Given the description of an element on the screen output the (x, y) to click on. 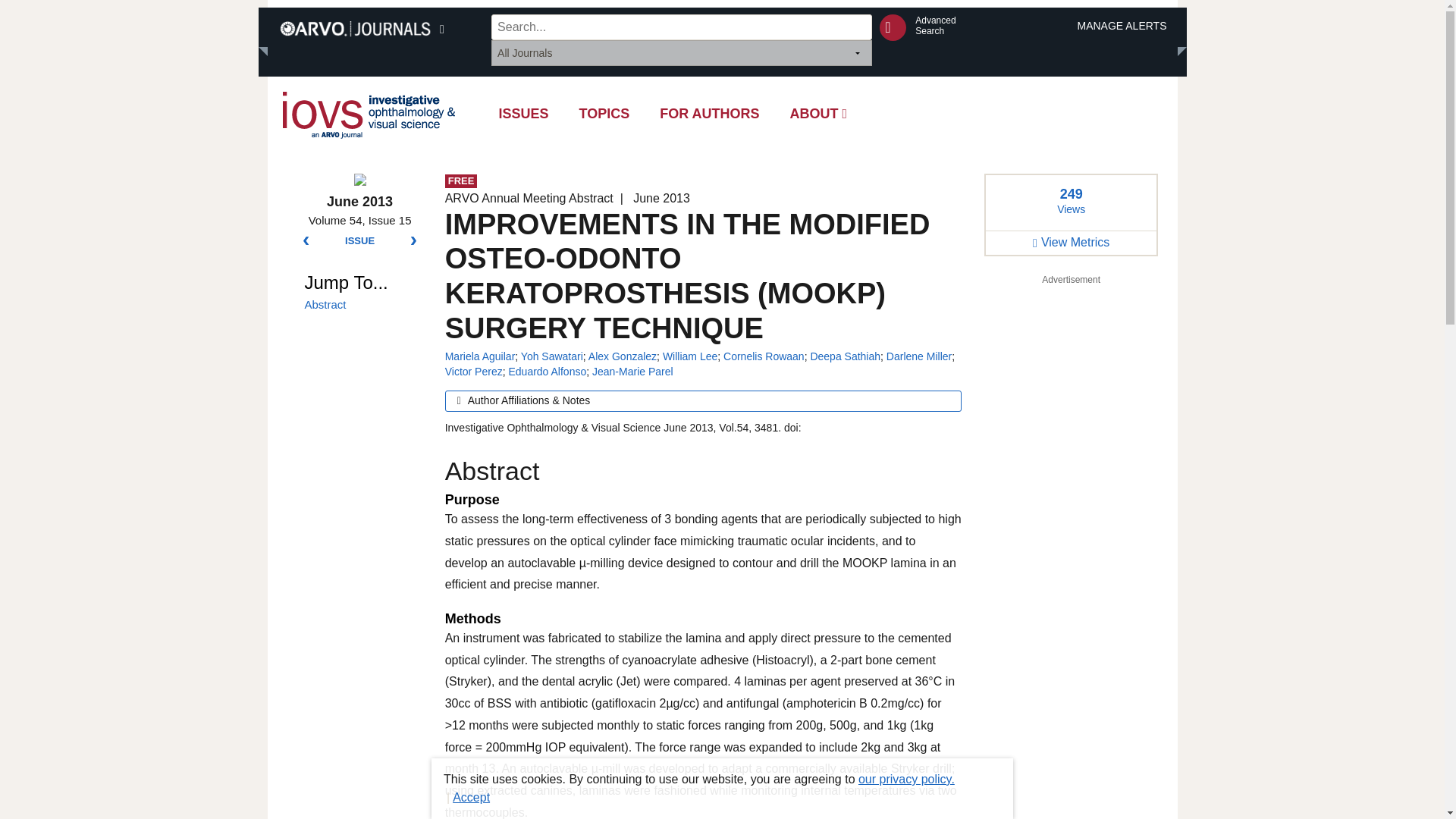
TOPICS (604, 114)
Victor Perez (473, 371)
ISSUES (523, 114)
Deepa Sathiah (844, 356)
Alex Gonzalez (622, 356)
ISSUE (359, 241)
Abstract (362, 304)
ABOUT (818, 114)
Cornelis Rowaan (764, 356)
Mariela Aguilar (480, 356)
